Given the description of an element on the screen output the (x, y) to click on. 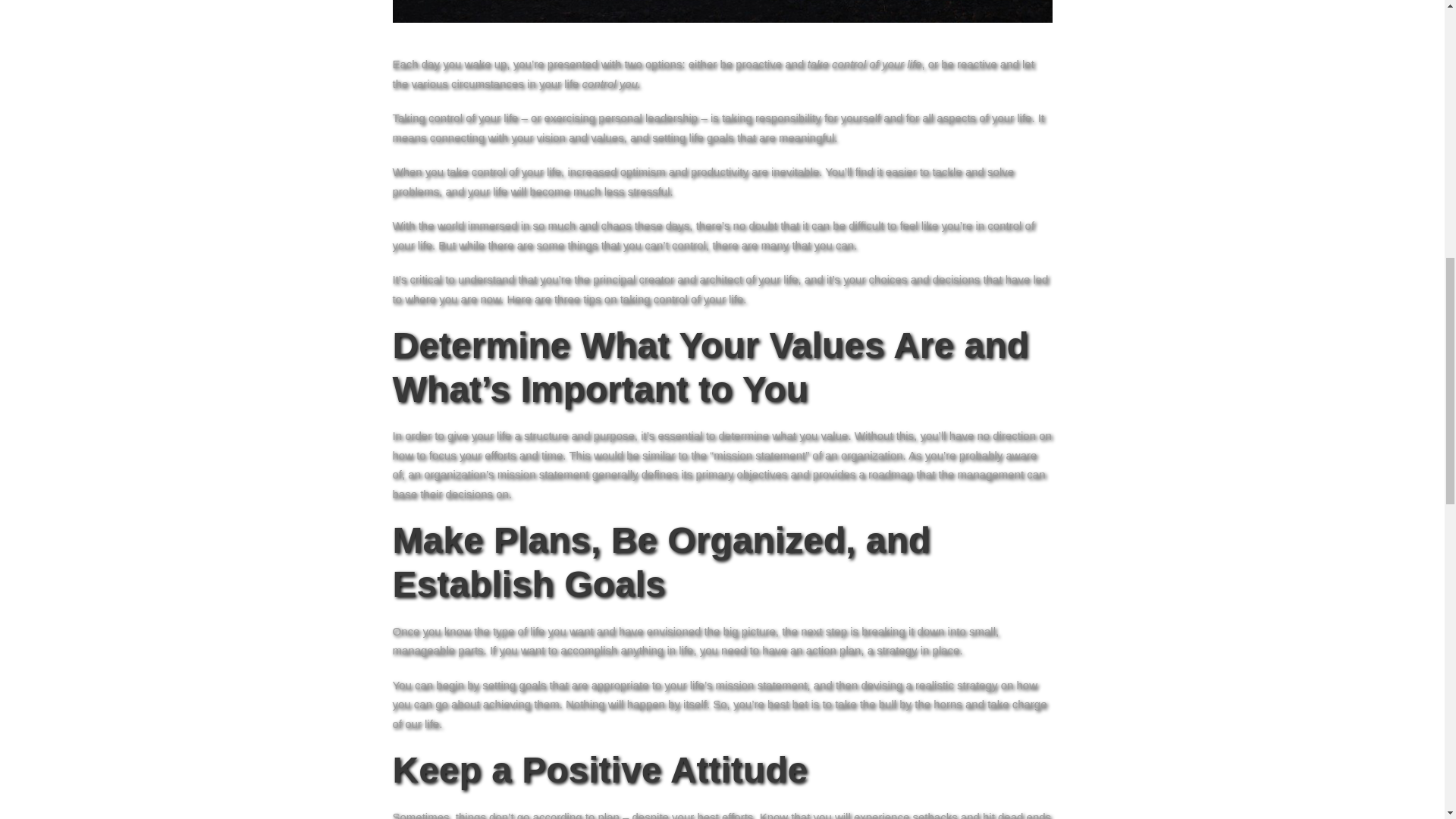
positive fun morning (722, 11)
